Given the description of an element on the screen output the (x, y) to click on. 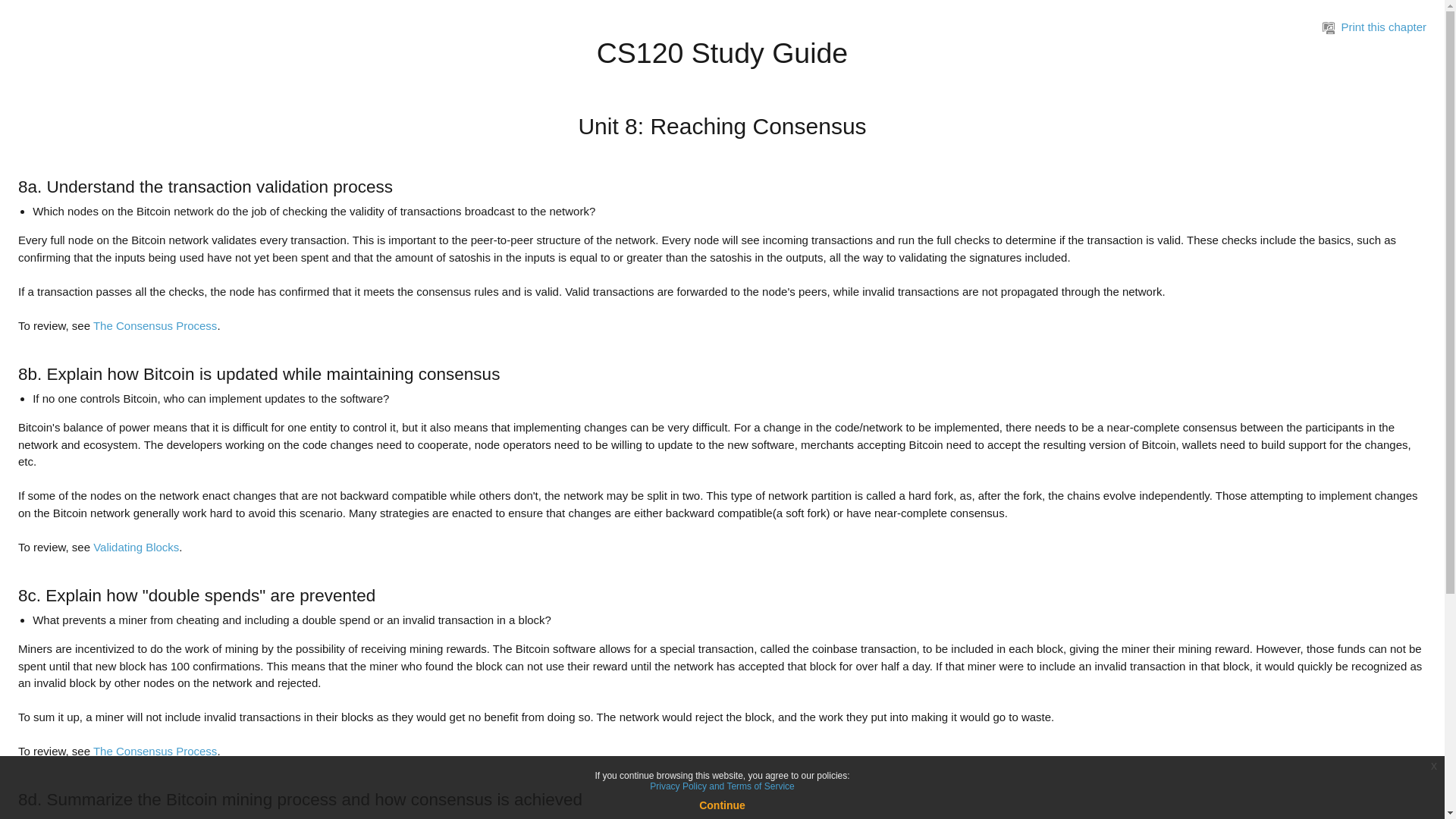
Validating Blocks (136, 545)
Print this chapter (1328, 28)
The Consensus Process (154, 750)
The Consensus Process (154, 324)
Privacy Policy and Terms of Service (721, 786)
Continue (721, 805)
Print this chapter (1374, 26)
